Given the description of an element on the screen output the (x, y) to click on. 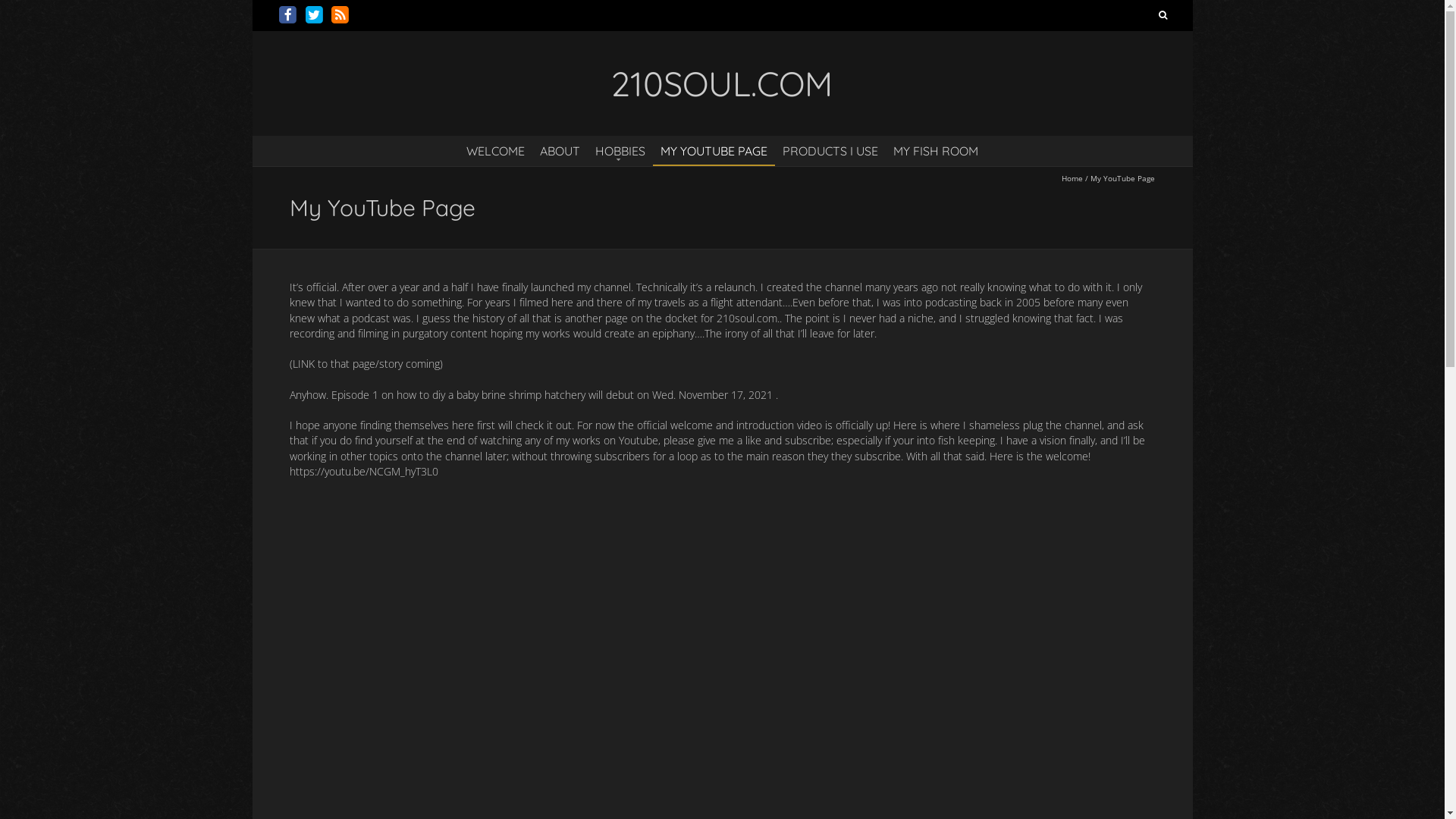
HOBBIES Element type: text (619, 149)
MY FISH ROOM Element type: text (935, 149)
Search Element type: text (1162, 14)
210SOUL.COM Element type: text (721, 83)
PRODUCTS I USE Element type: text (830, 149)
WELCOME Element type: text (495, 149)
Home Element type: text (1071, 177)
MY YOUTUBE PAGE Element type: text (713, 149)
ABOUT Element type: text (559, 149)
